Given the description of an element on the screen output the (x, y) to click on. 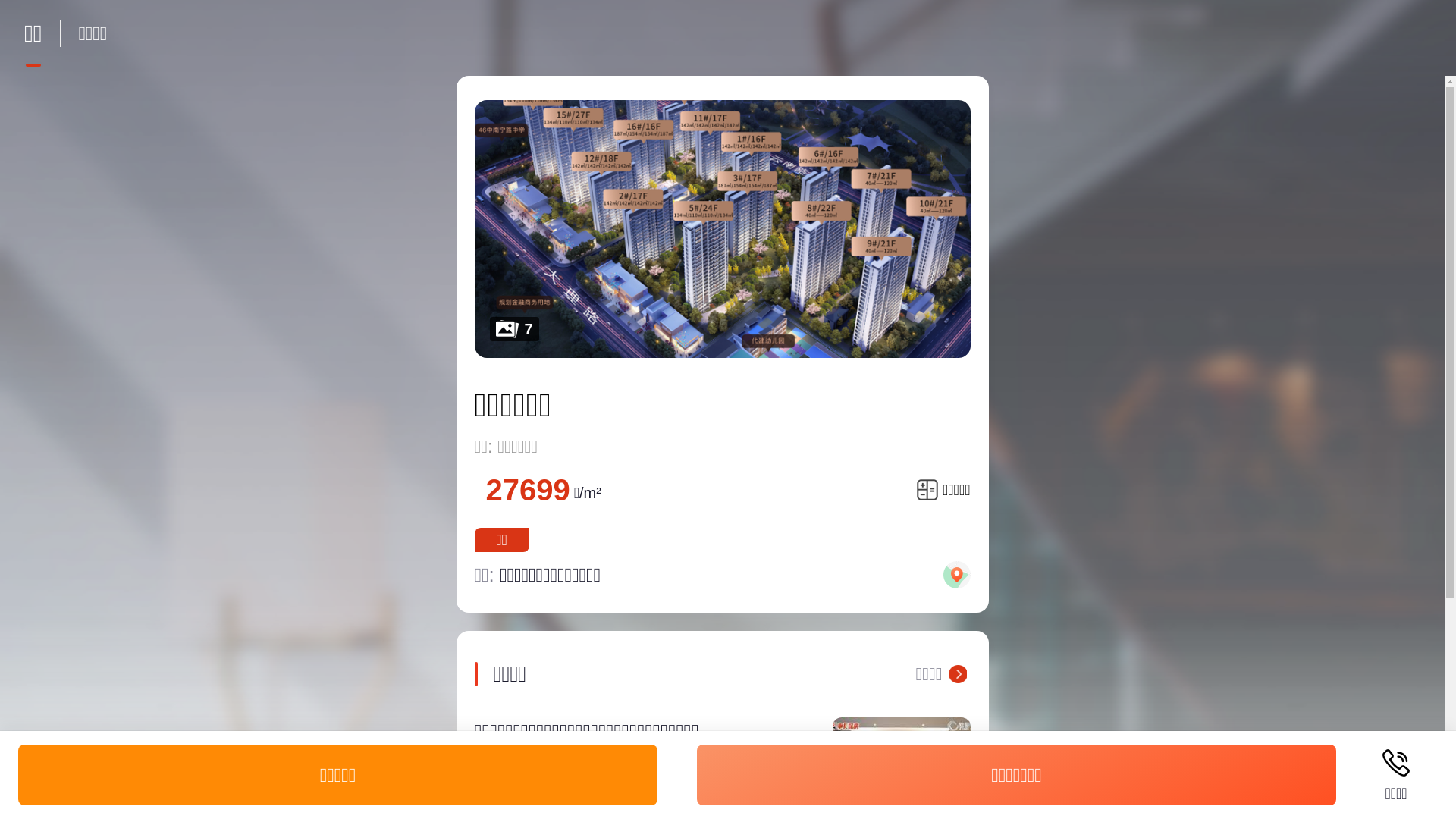
7 Element type: text (722, 228)
